Given the description of an element on the screen output the (x, y) to click on. 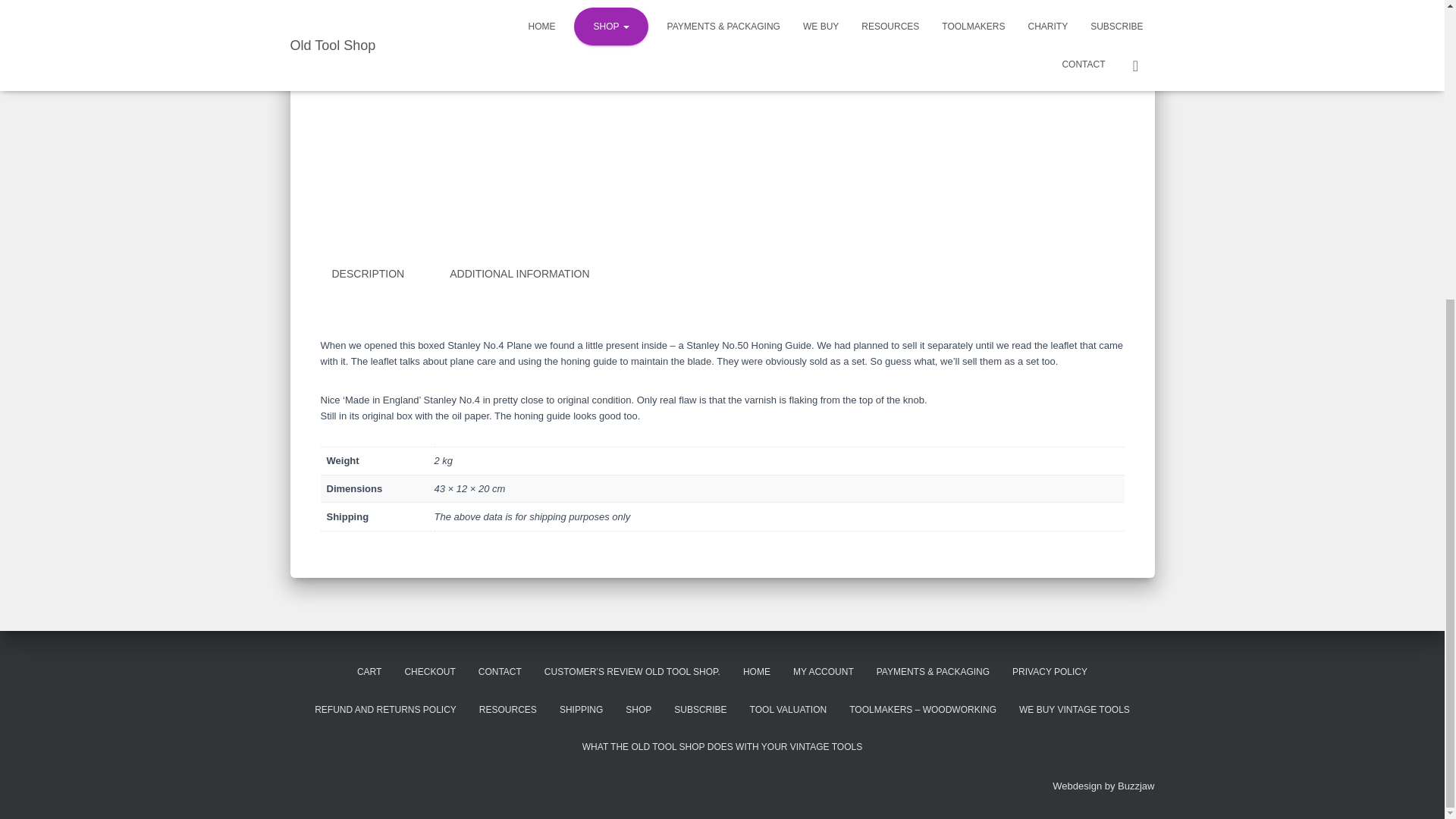
Collectors (809, 62)
DESCRIPTION (367, 274)
CART (369, 672)
Planes (855, 47)
metal bench (807, 47)
ADDITIONAL INFORMATION (518, 274)
Boxed (767, 62)
